Given the description of an element on the screen output the (x, y) to click on. 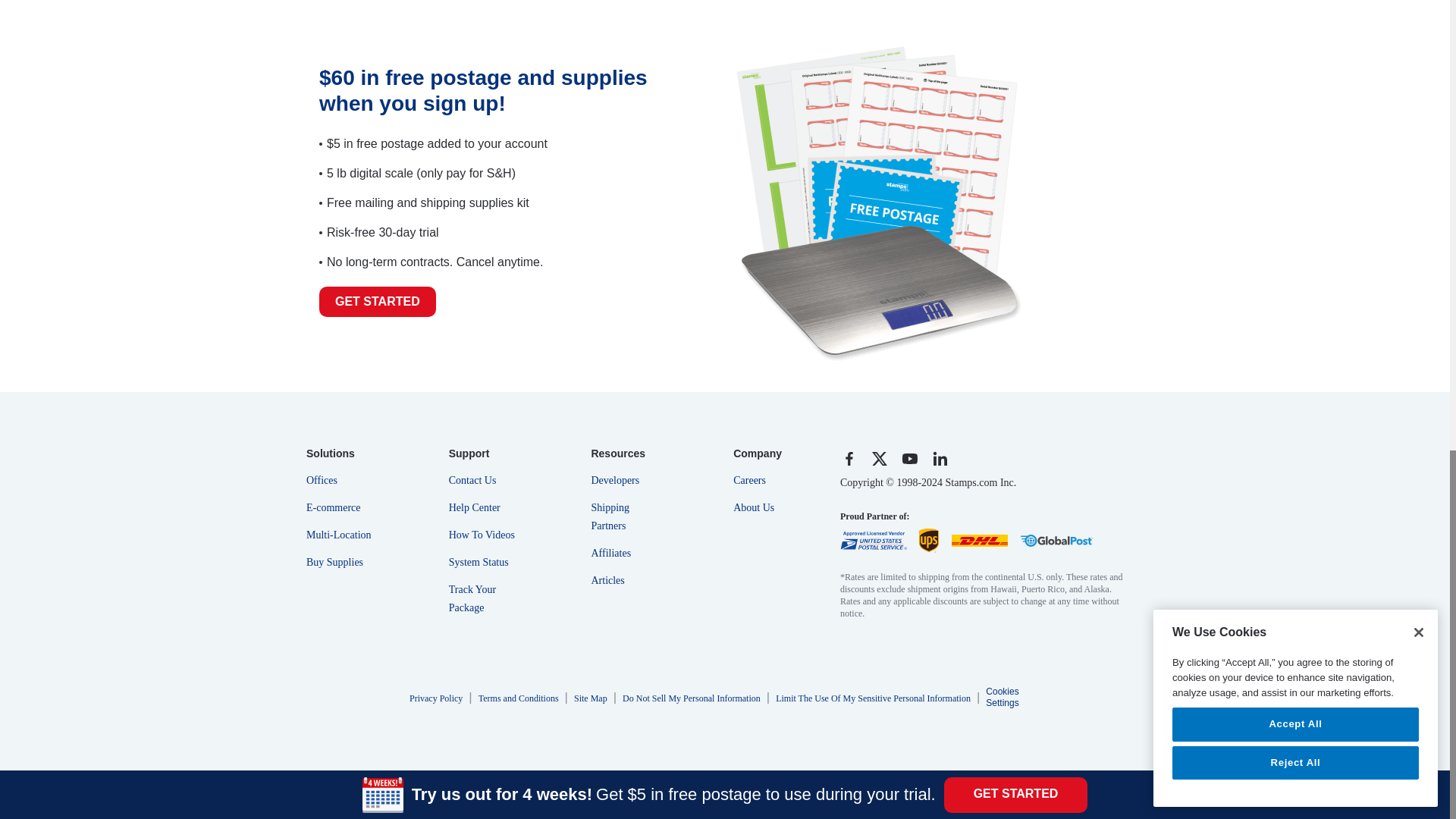
Offices (341, 475)
E-commerce (341, 502)
Track Your Package (483, 594)
System Status (483, 557)
How To Videos (483, 530)
Help Center (483, 502)
Offices (341, 475)
Contact Us (483, 475)
Help Center (483, 502)
Multi-Location (341, 530)
Buy Supplies (341, 557)
Developers (626, 475)
GET STARTED (376, 301)
Shipping Partners (626, 512)
Buy Supplies (341, 557)
